Given the description of an element on the screen output the (x, y) to click on. 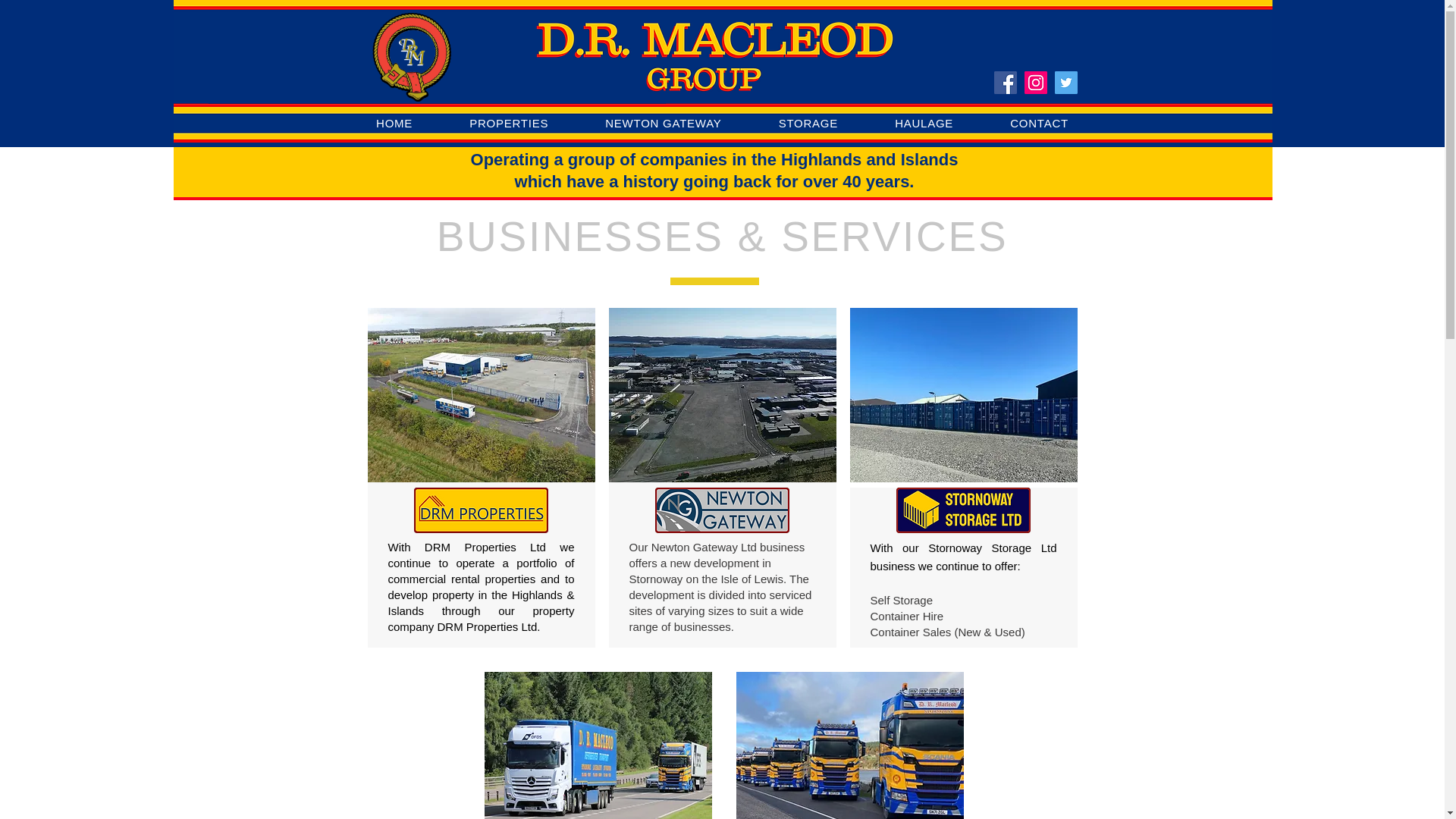
logo gold.gif (410, 57)
STORAGE (807, 122)
HAULAGE (923, 122)
CONTACT (1039, 122)
NEWTON GATEWAY (662, 122)
PROPERTIES (508, 122)
HOME (394, 122)
